Given the description of an element on the screen output the (x, y) to click on. 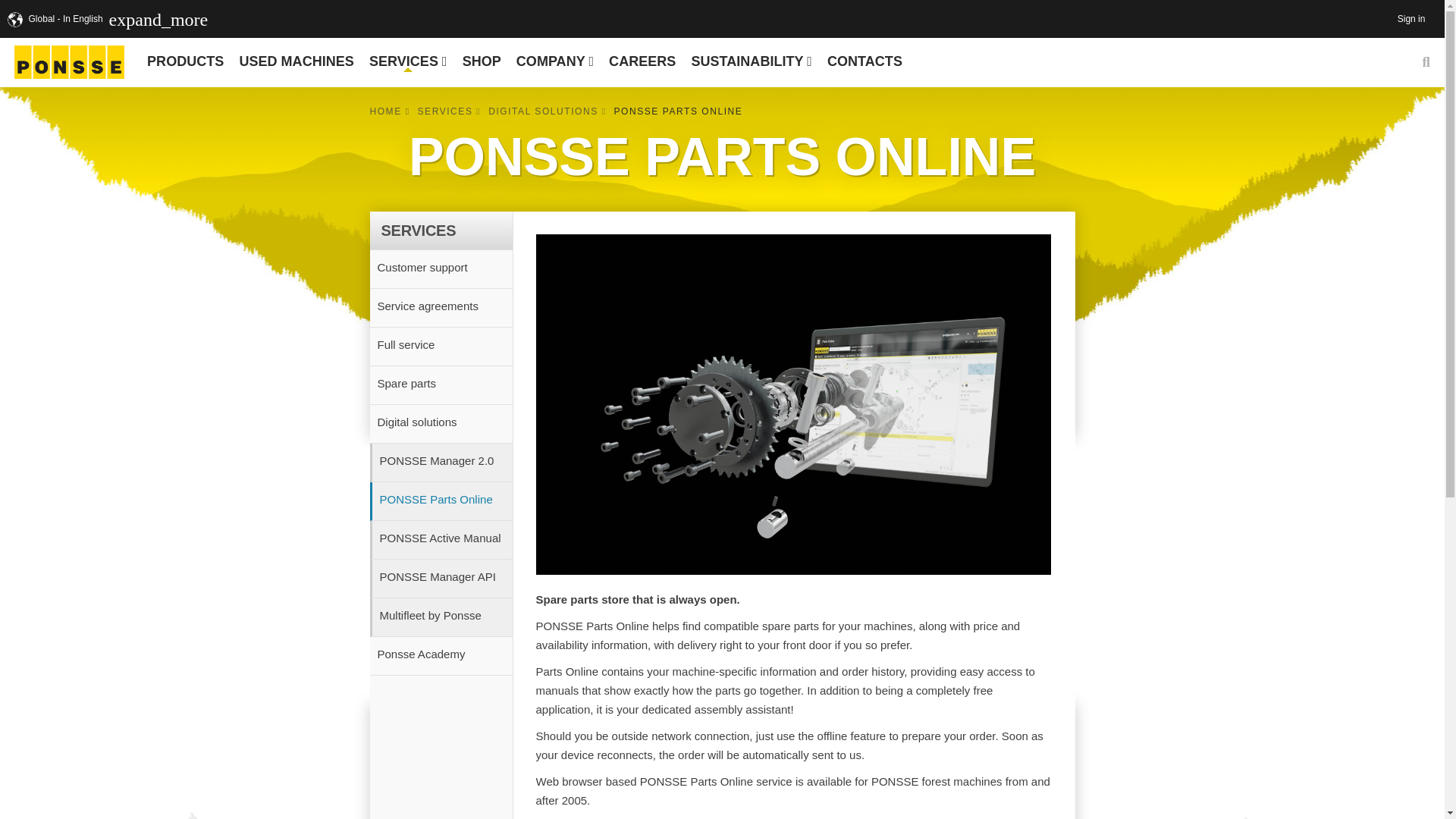
USED MACHINES (296, 60)
COMPANY (554, 60)
SHOP (481, 60)
PRODUCTS (185, 60)
SERVICES (407, 60)
